Given the description of an element on the screen output the (x, y) to click on. 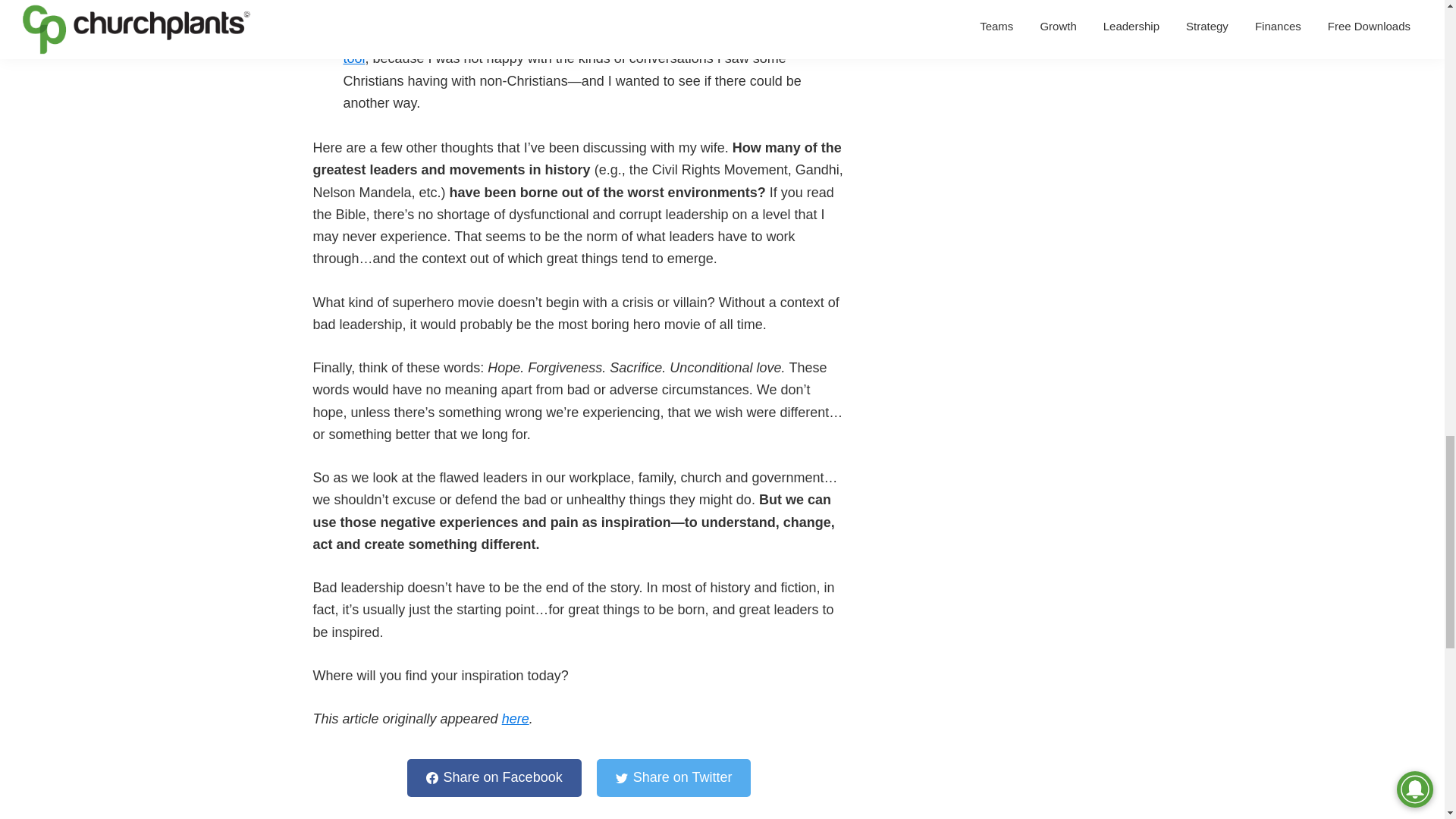
here (515, 718)
book on feedback (452, 14)
Share This on Facebook (493, 777)
Share on Twitter (673, 777)
Share on Facebook (493, 777)
spiritual discussion tool (583, 47)
